Given the description of an element on the screen output the (x, y) to click on. 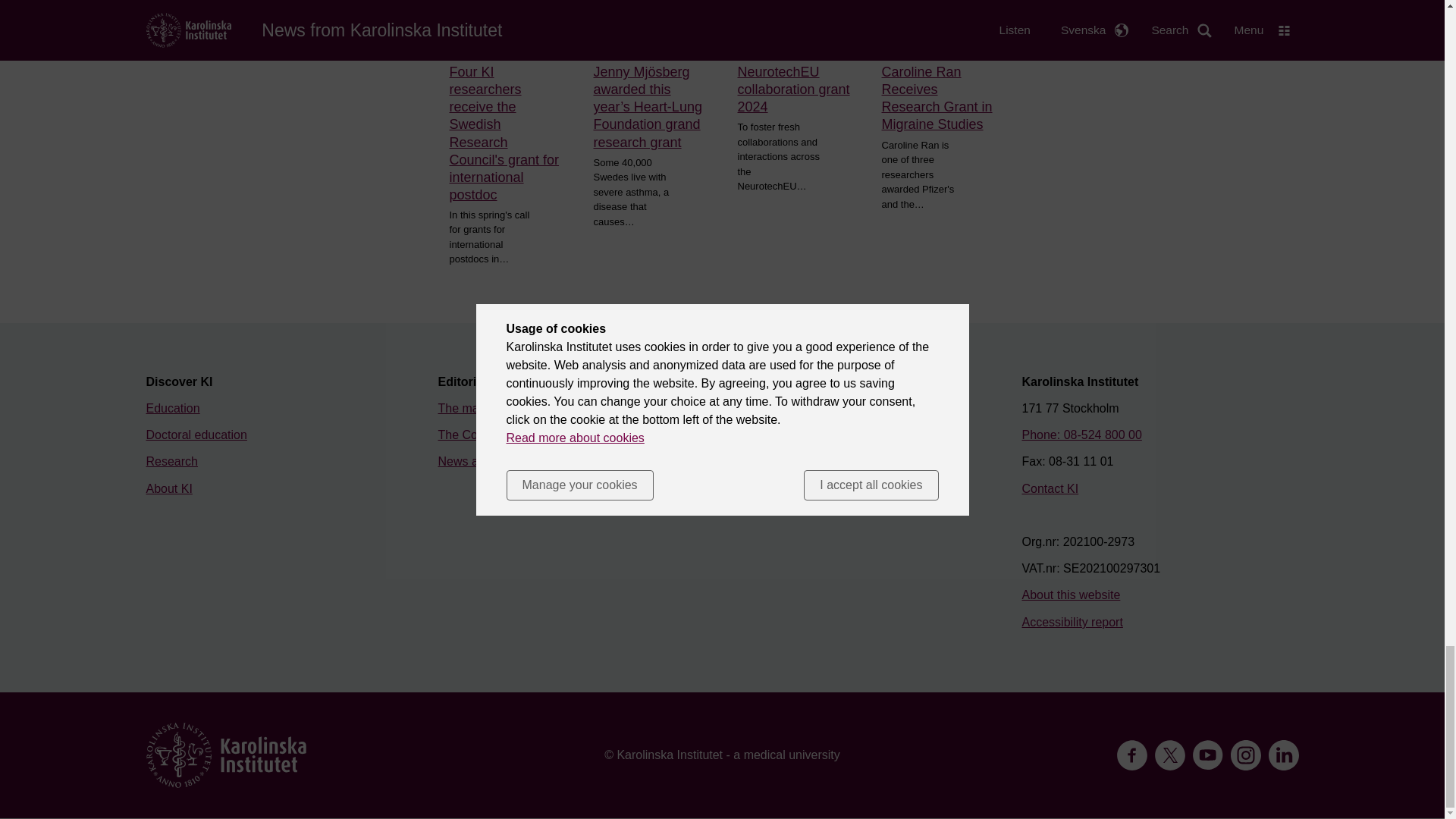
Research subjects wanted (800, 434)
Doctoral education (195, 434)
The Conversation (486, 434)
News archive (474, 461)
Education (172, 408)
The press office (772, 408)
Caroline Ran Receives Research Grant in Migraine Studies (937, 98)
Research (170, 461)
NeurotechEU collaboration grant 2024 (793, 89)
About KI (168, 488)
The magazine Medicinsk Vetenskap (534, 408)
